Given the description of an element on the screen output the (x, y) to click on. 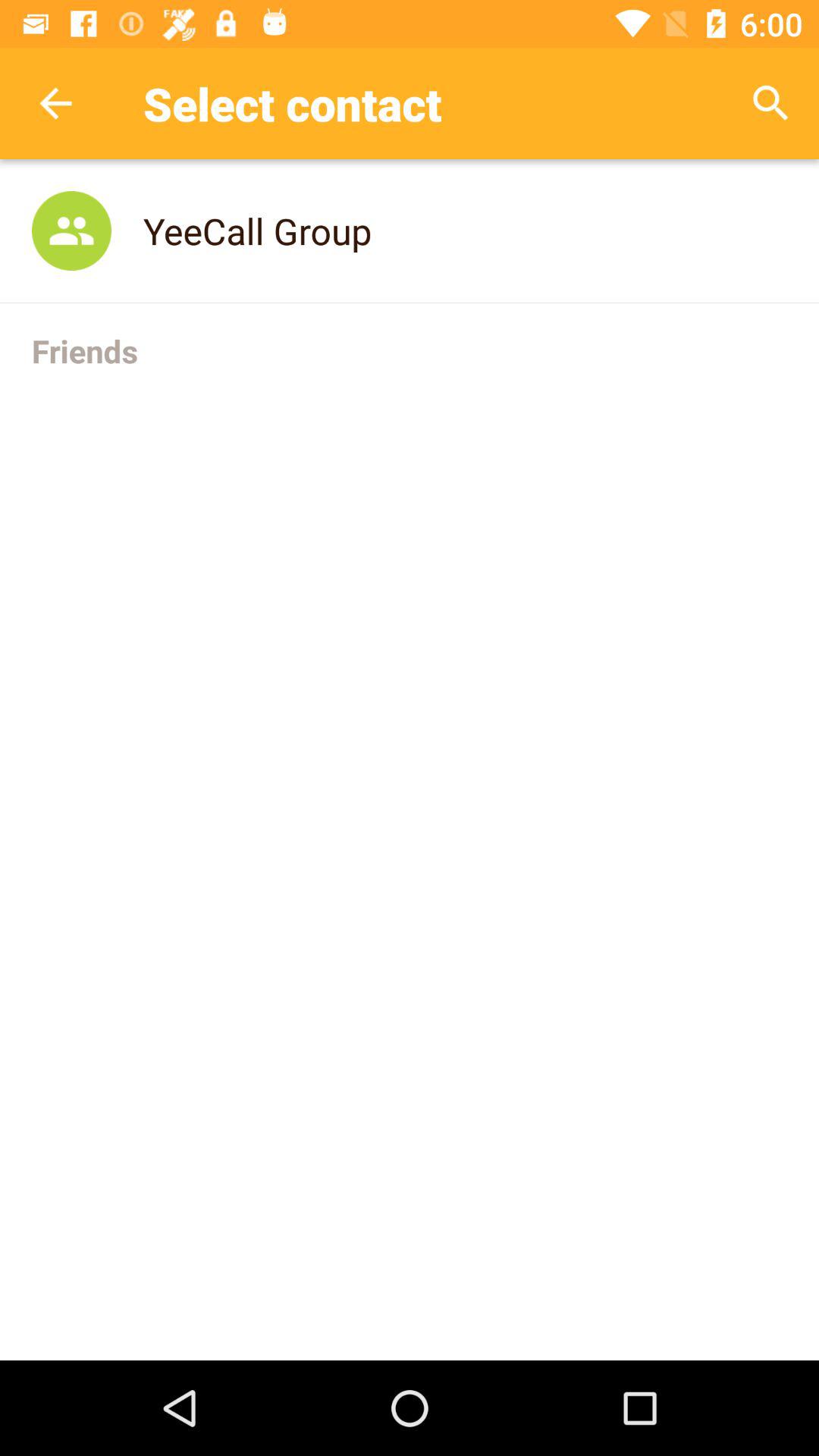
go back (55, 103)
